Given the description of an element on the screen output the (x, y) to click on. 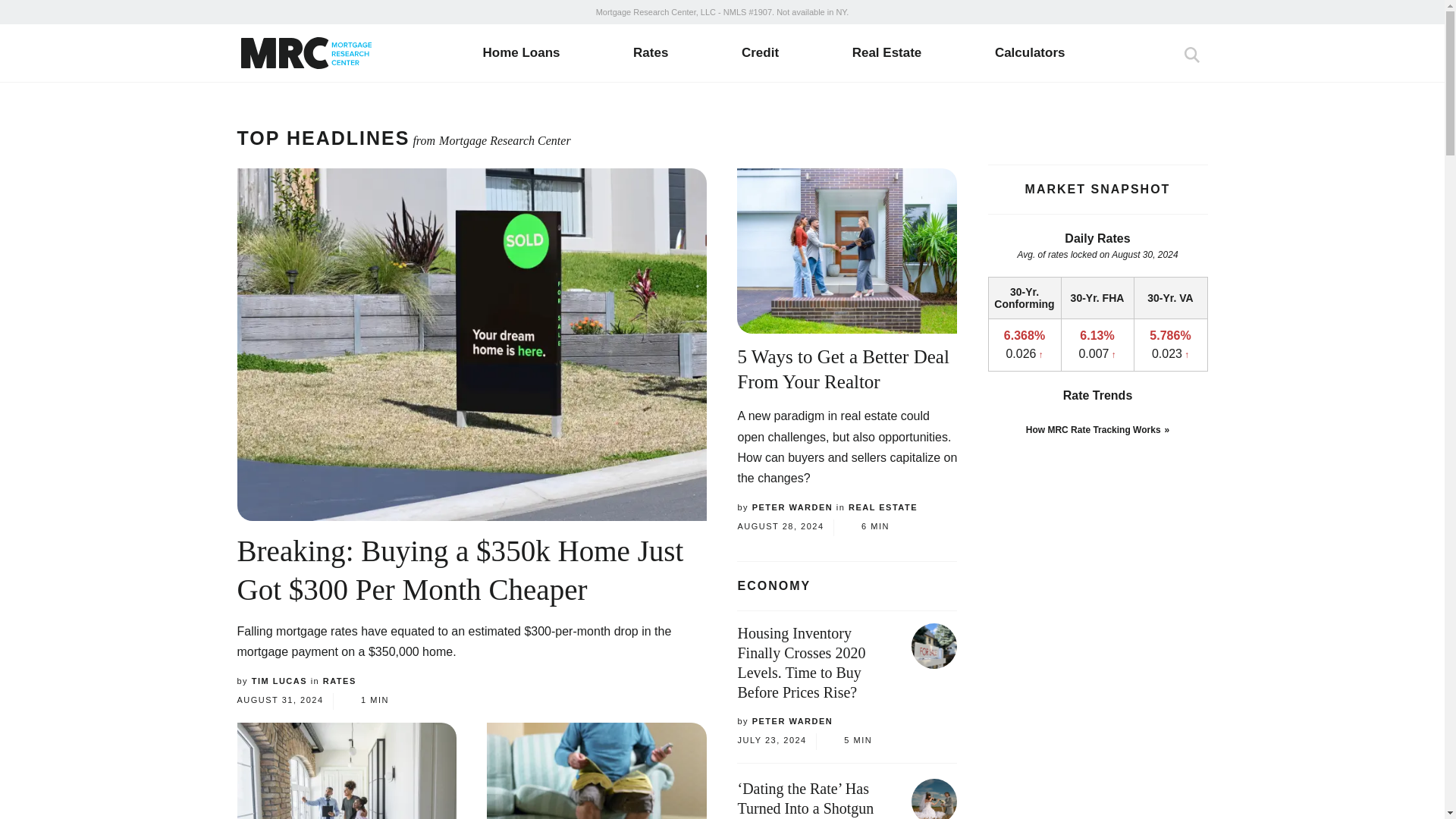
5 Ways to Get a Better Deal From Your Realtor (842, 369)
ECONOMY (846, 585)
Rates (650, 52)
Search MortgageResearch.com (1191, 55)
REAL ESTATE (882, 506)
TIM LUCAS (279, 680)
RATES (339, 680)
Home Loans (520, 52)
